Given the description of an element on the screen output the (x, y) to click on. 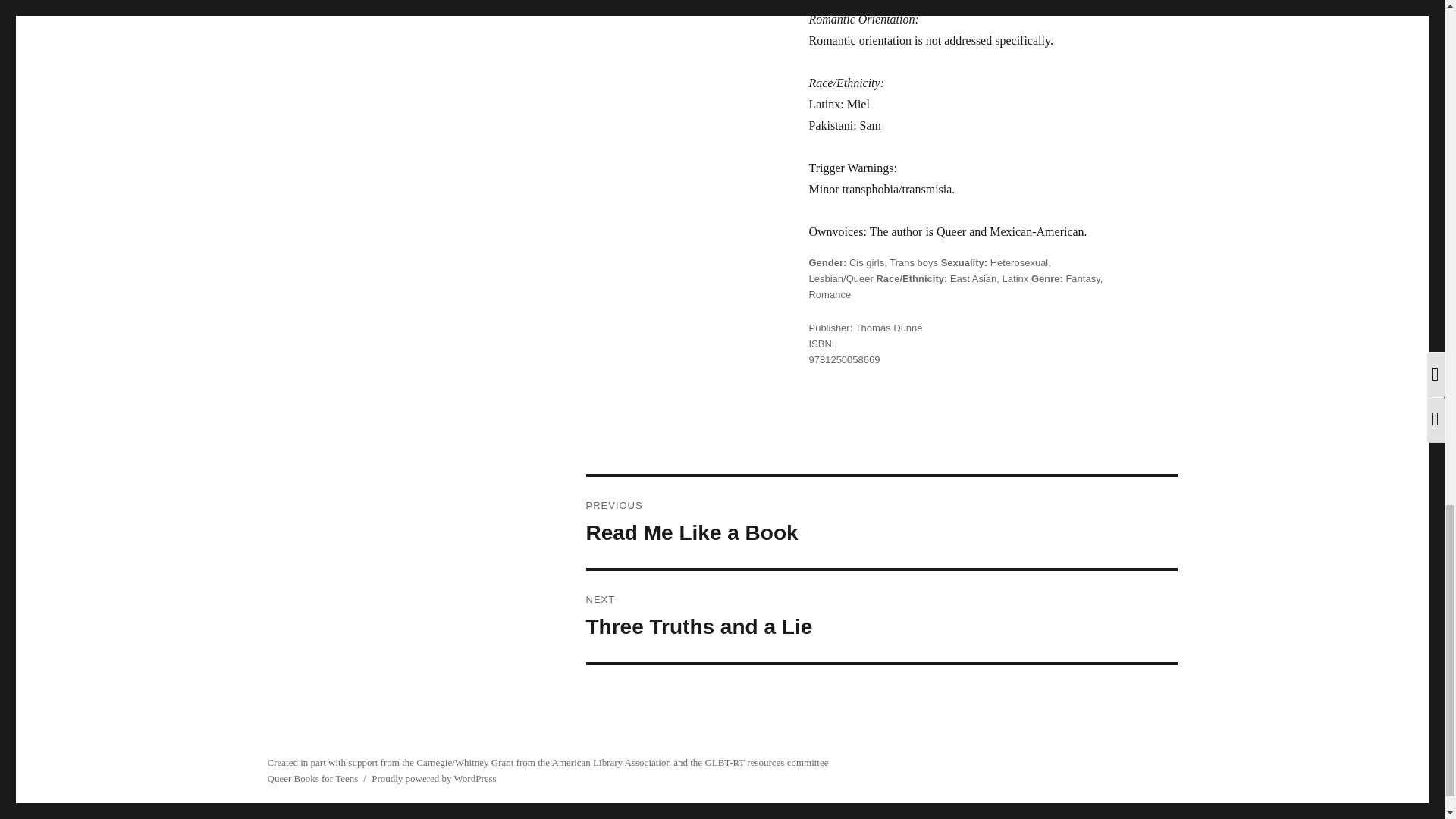
Cis girls (865, 262)
